Given the description of an element on the screen output the (x, y) to click on. 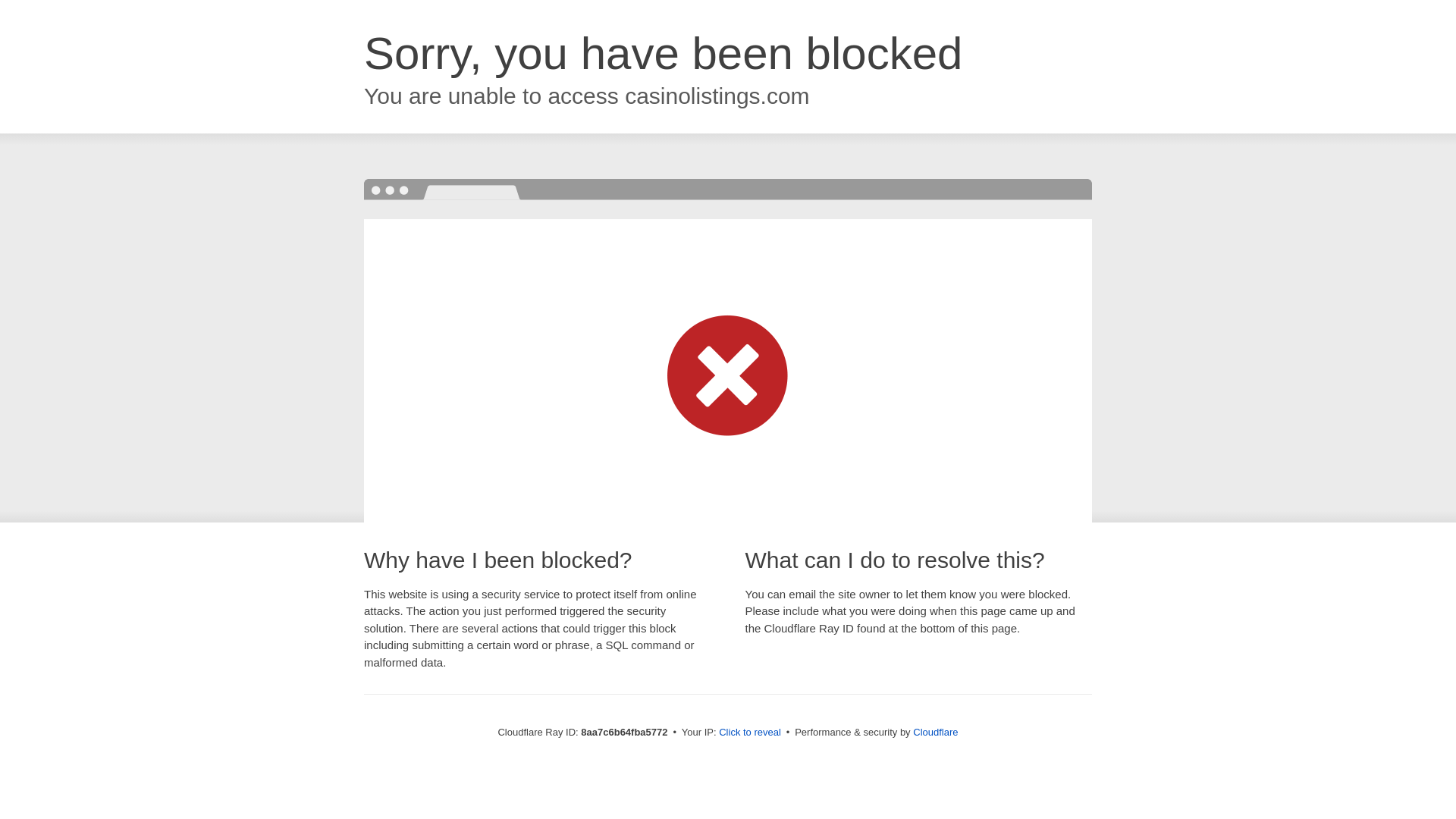
Cloudflare (935, 731)
Click to reveal (749, 732)
